Given the description of an element on the screen output the (x, y) to click on. 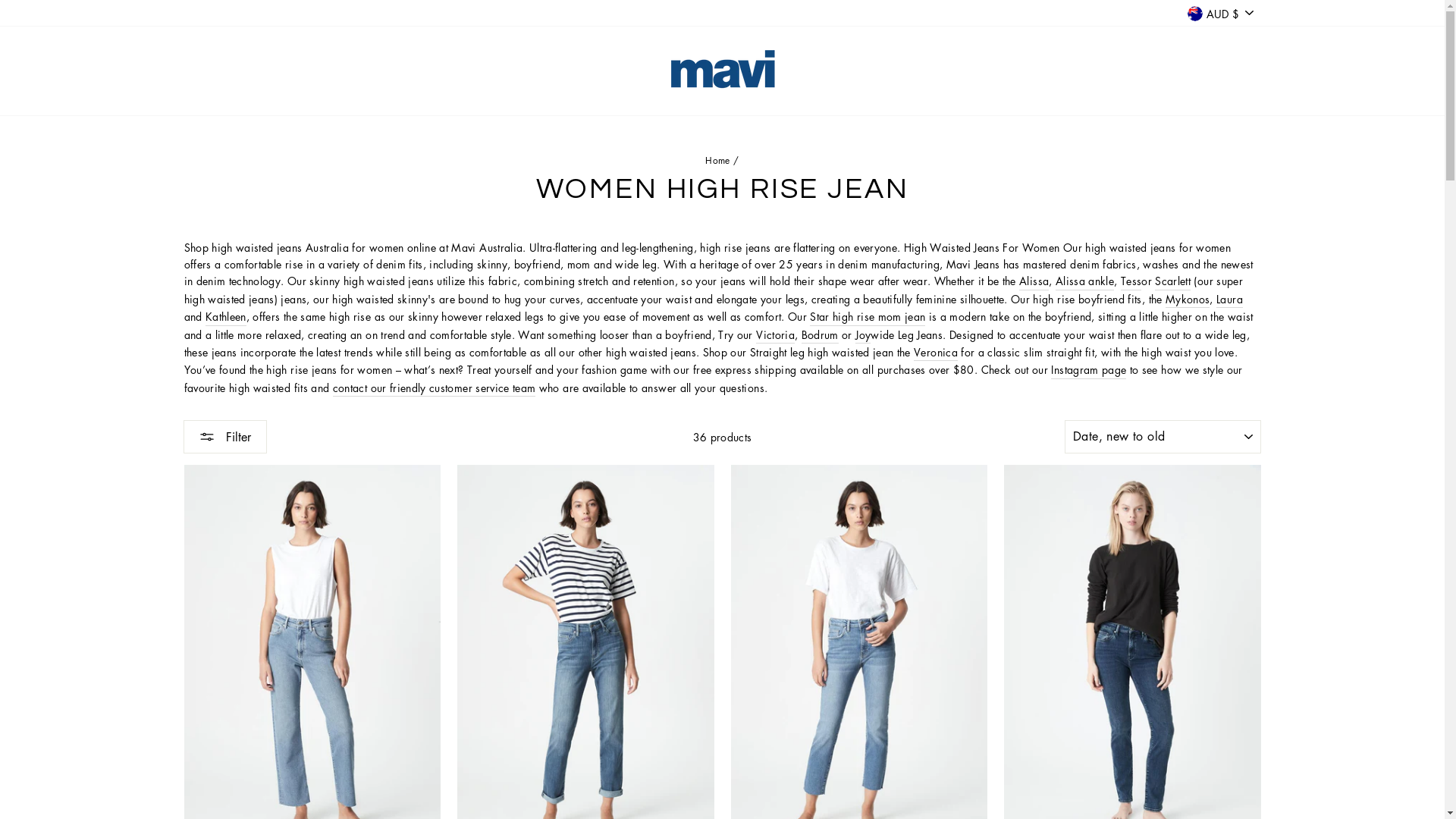
Scarlett Element type: text (1172, 280)
Victoria Element type: text (775, 334)
Star high rise mom jean Element type: text (867, 316)
Home Element type: text (717, 159)
contact our friendly customer service team Element type: text (434, 387)
Filter Element type: text (224, 436)
Mykonos Element type: text (1187, 298)
Skip to content Element type: text (0, 0)
Kathleen Element type: text (225, 316)
Veronica Element type: text (935, 351)
Alissa ankle Element type: text (1084, 280)
Instagram page Element type: text (1088, 369)
Bodrum Element type: text (819, 334)
Joy Element type: text (862, 334)
Tess Element type: text (1130, 280)
Alissa Element type: text (1033, 280)
AUD $ Element type: text (1220, 13)
Laura Element type: text (1229, 298)
